Given the description of an element on the screen output the (x, y) to click on. 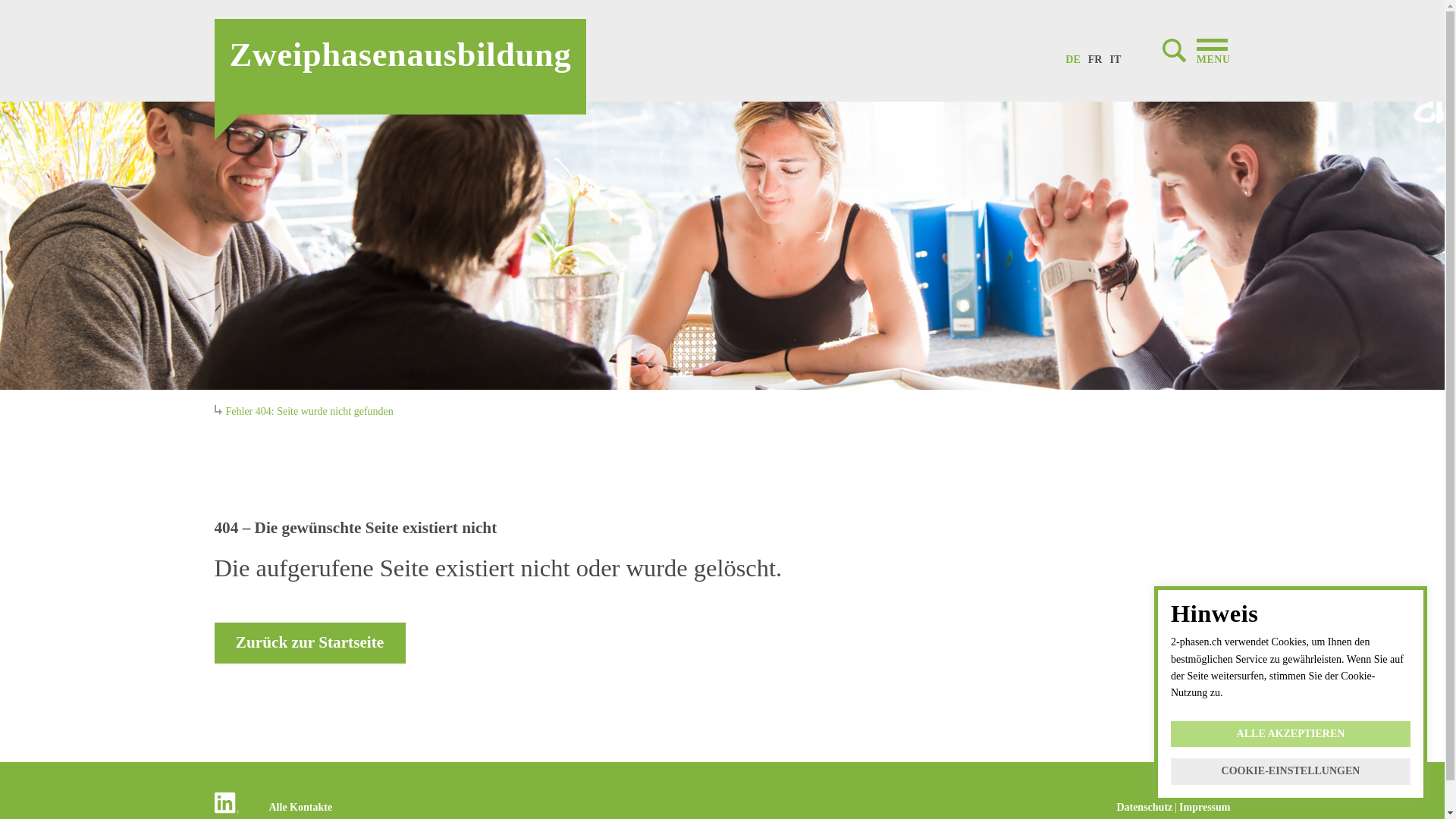
COOKIE-EINSTELLUNGEN Element type: text (1290, 771)
Alle Kontakte Element type: text (300, 807)
ALLE AKZEPTIEREN Element type: text (1290, 734)
MENU Element type: text (1196, 50)
Zweiphasen
ausbildung Element type: text (399, 66)
Impressum Element type: text (1204, 807)
FR Element type: text (1095, 55)
IT Element type: text (1114, 55)
Datenschutz Element type: text (1144, 807)
DE Element type: text (1072, 55)
